Given the description of an element on the screen output the (x, y) to click on. 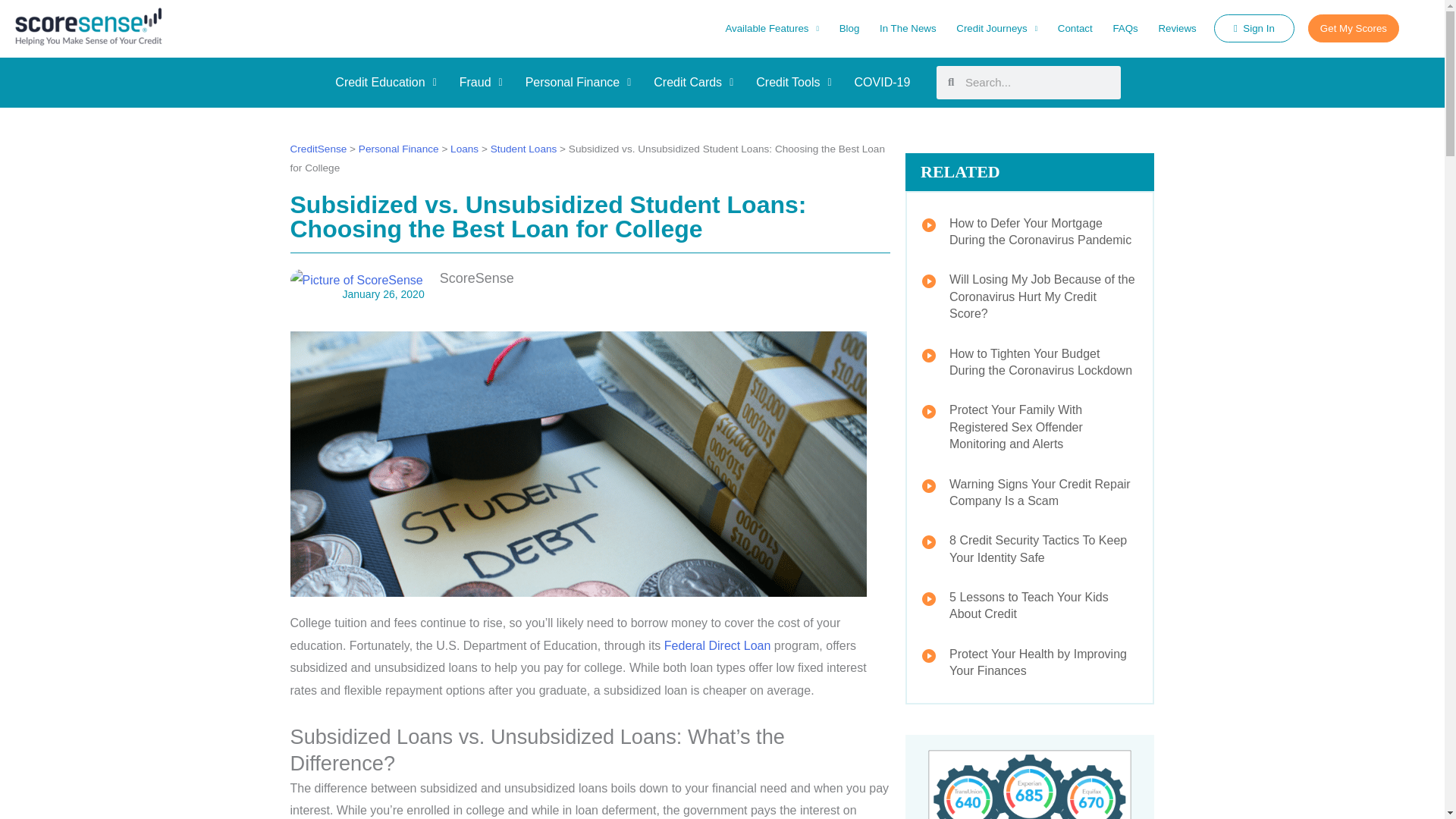
Get My Scores from ScoreSense - Top Button - Ord 16 (1353, 28)
In The News (907, 28)
Get My Scores (1353, 28)
  Sign In (1254, 28)
Reviews (1177, 28)
Contact (1074, 28)
Available Features (771, 28)
Credit Journeys (997, 28)
Credit Education (384, 82)
Blog (848, 28)
FAQs (1125, 28)
